Given the description of an element on the screen output the (x, y) to click on. 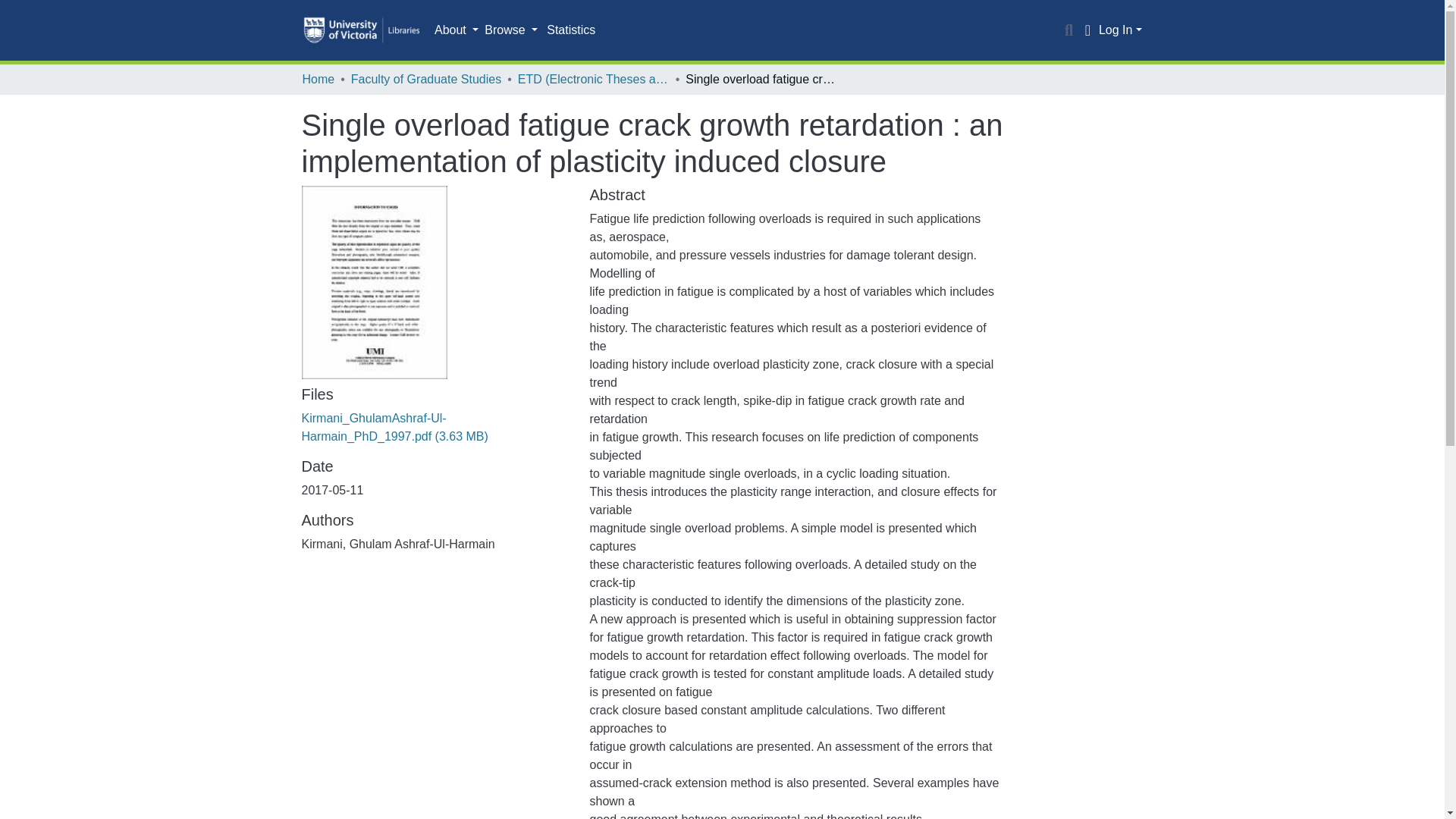
Search (1068, 30)
Statistics (570, 30)
Statistics (570, 30)
Log In (1119, 29)
Faculty of Graduate Studies (425, 79)
Language switch (1087, 30)
Home (317, 79)
Browse (510, 30)
About (455, 30)
